Given the description of an element on the screen output the (x, y) to click on. 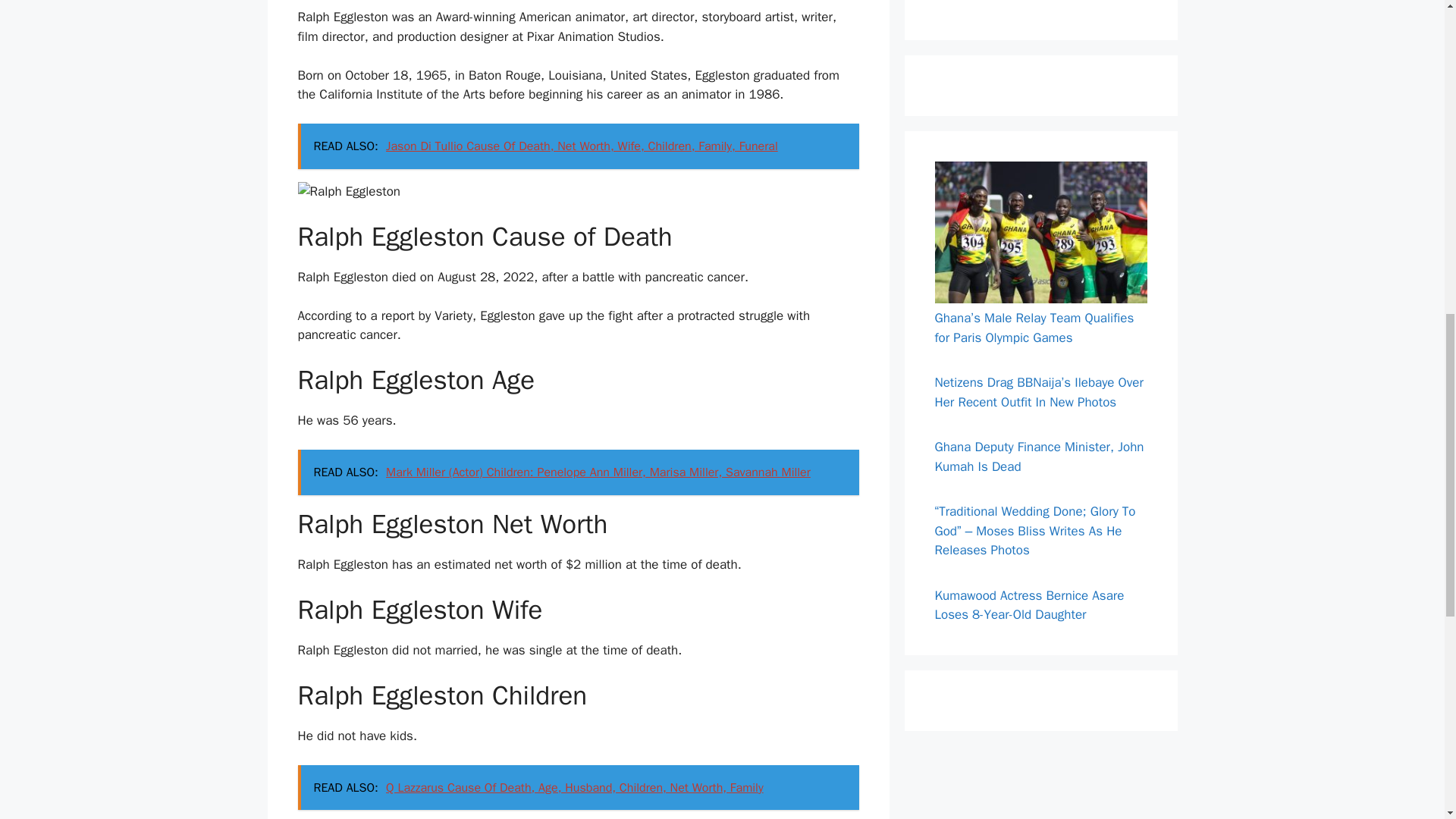
Ghana Deputy Finance Minister, John Kumah Is Dead (1038, 456)
Kumawood Actress Bernice Asare Loses 8-Year-Old Daughter (1029, 605)
